Given the description of an element on the screen output the (x, y) to click on. 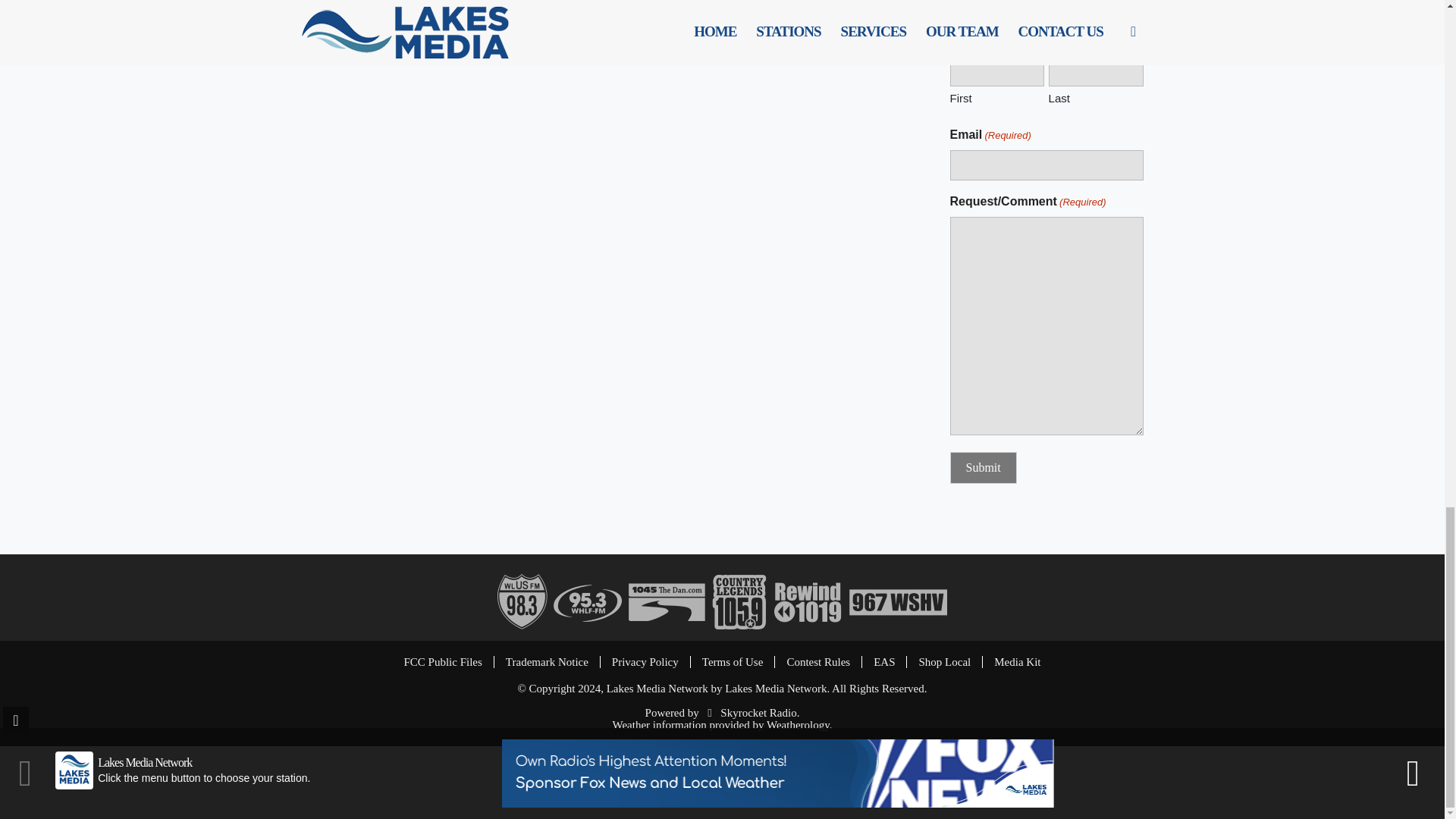
Submit (982, 468)
